Given the description of an element on the screen output the (x, y) to click on. 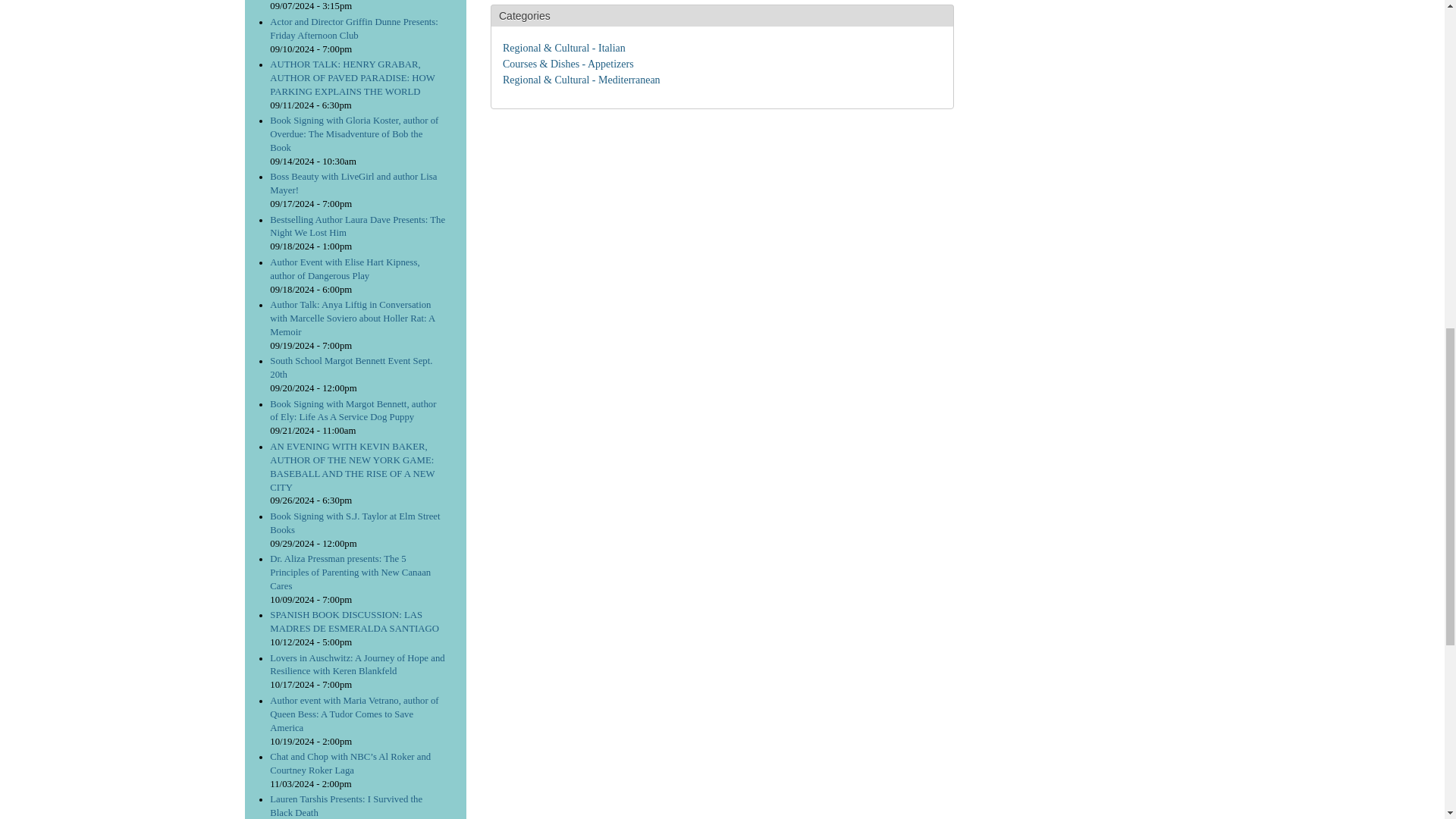
Book Signing with S.J. Taylor at Elm Street Books (354, 523)
South School Margot Bennett Event Sept. 20th (350, 367)
SPANISH BOOK DISCUSSION: LAS MADRES DE ESMERALDA SANTIAGO (354, 621)
